Given the description of an element on the screen output the (x, y) to click on. 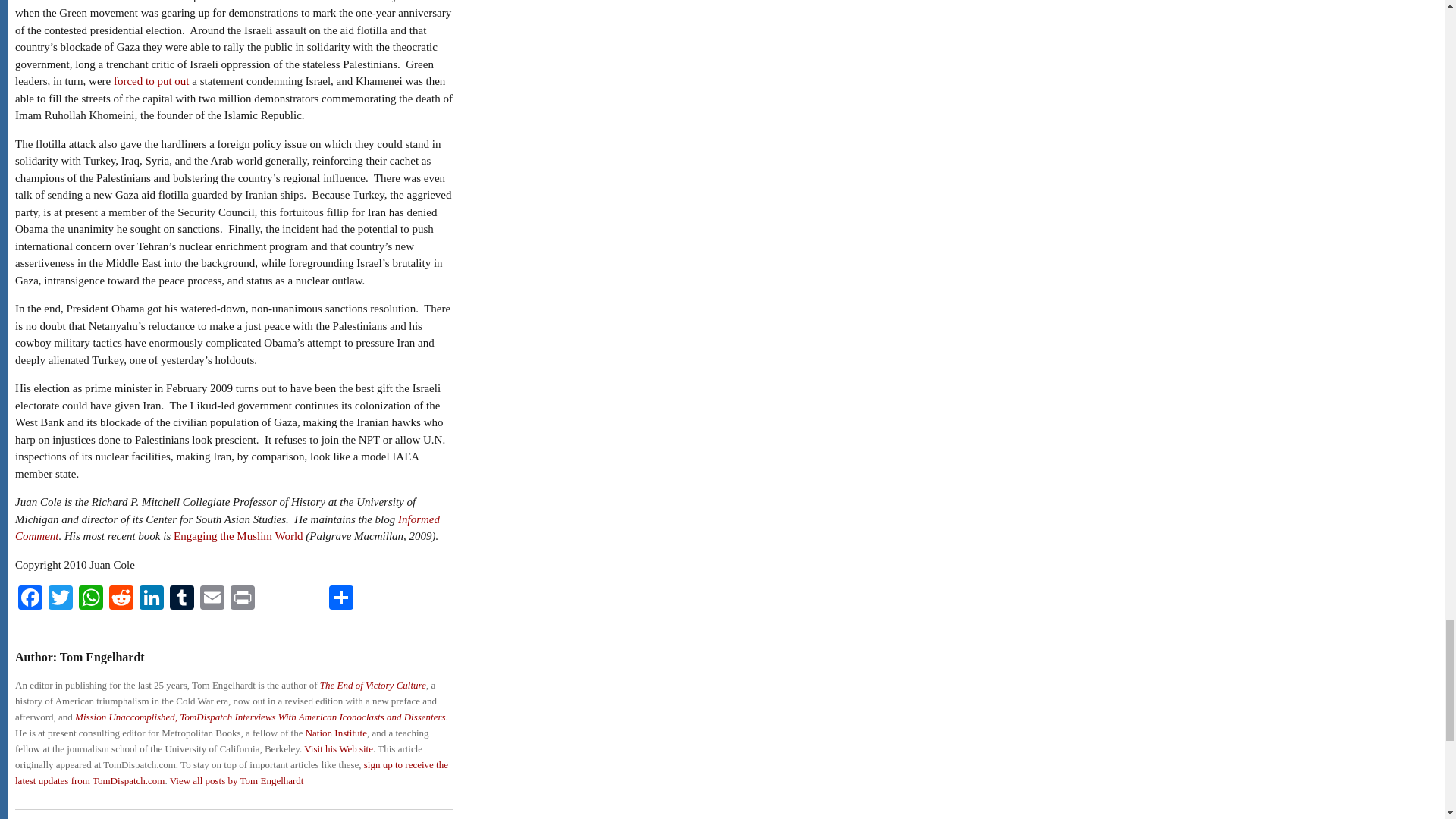
LinkedIn (151, 599)
Reddit (121, 599)
Email (211, 599)
Facebook (29, 599)
Twitter (60, 599)
Tumblr (181, 599)
WhatsApp (90, 599)
Print (242, 599)
